Given the description of an element on the screen output the (x, y) to click on. 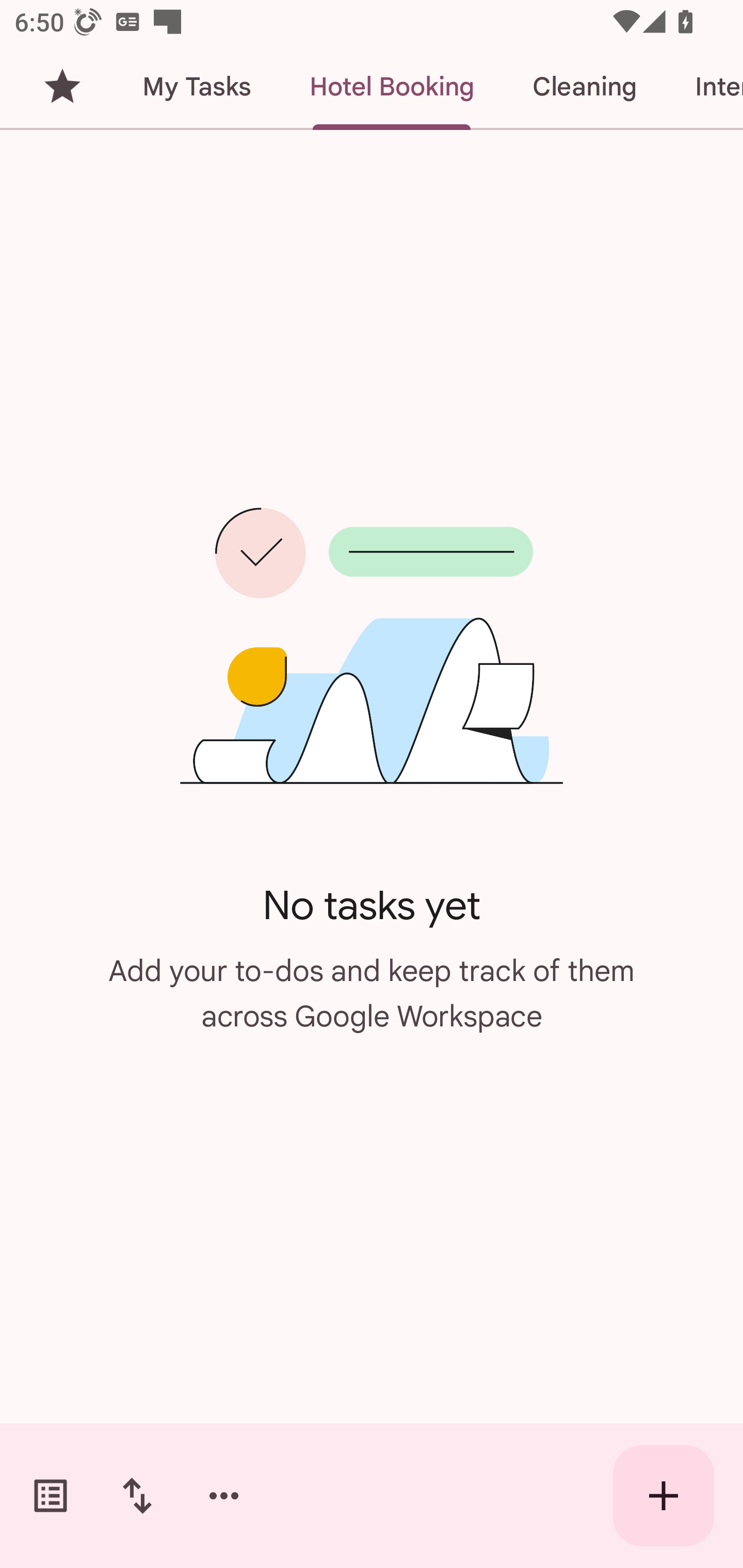
Starred (61, 86)
My Tasks (196, 86)
Cleaning (584, 86)
Switch task lists (50, 1495)
Create new task (663, 1495)
Change sort order (136, 1495)
More options (223, 1495)
